Given the description of an element on the screen output the (x, y) to click on. 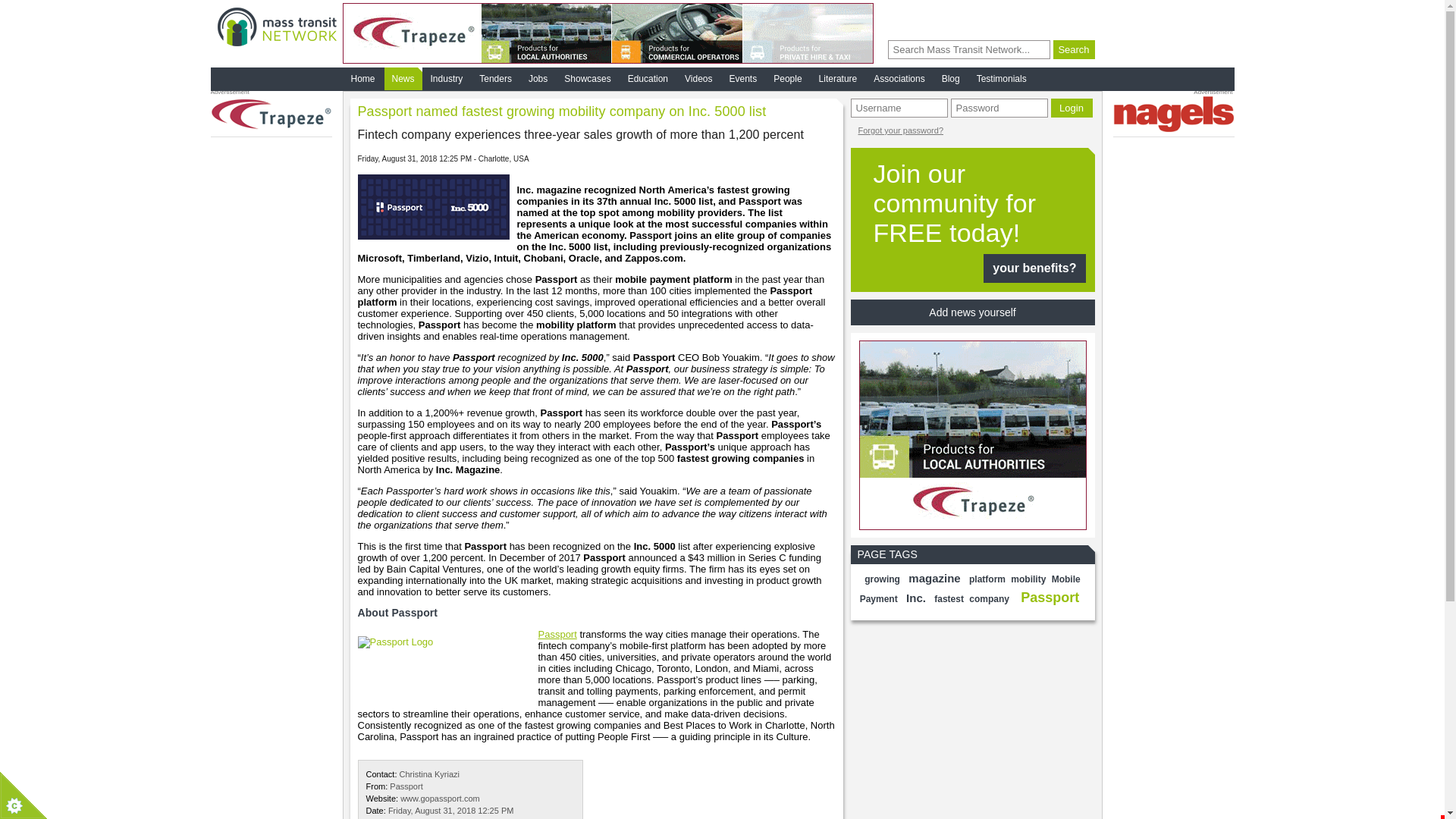
Passport (1049, 597)
News (402, 78)
Testimonials (1001, 78)
Passport Logo (448, 663)
Register here (972, 219)
fastest (949, 598)
View profile of Passport (406, 786)
Christina Kyriazi (429, 773)
platform (972, 219)
View website of Passport (987, 579)
Reset your password (440, 798)
Go to Passport (901, 130)
Events (557, 633)
